Given the description of an element on the screen output the (x, y) to click on. 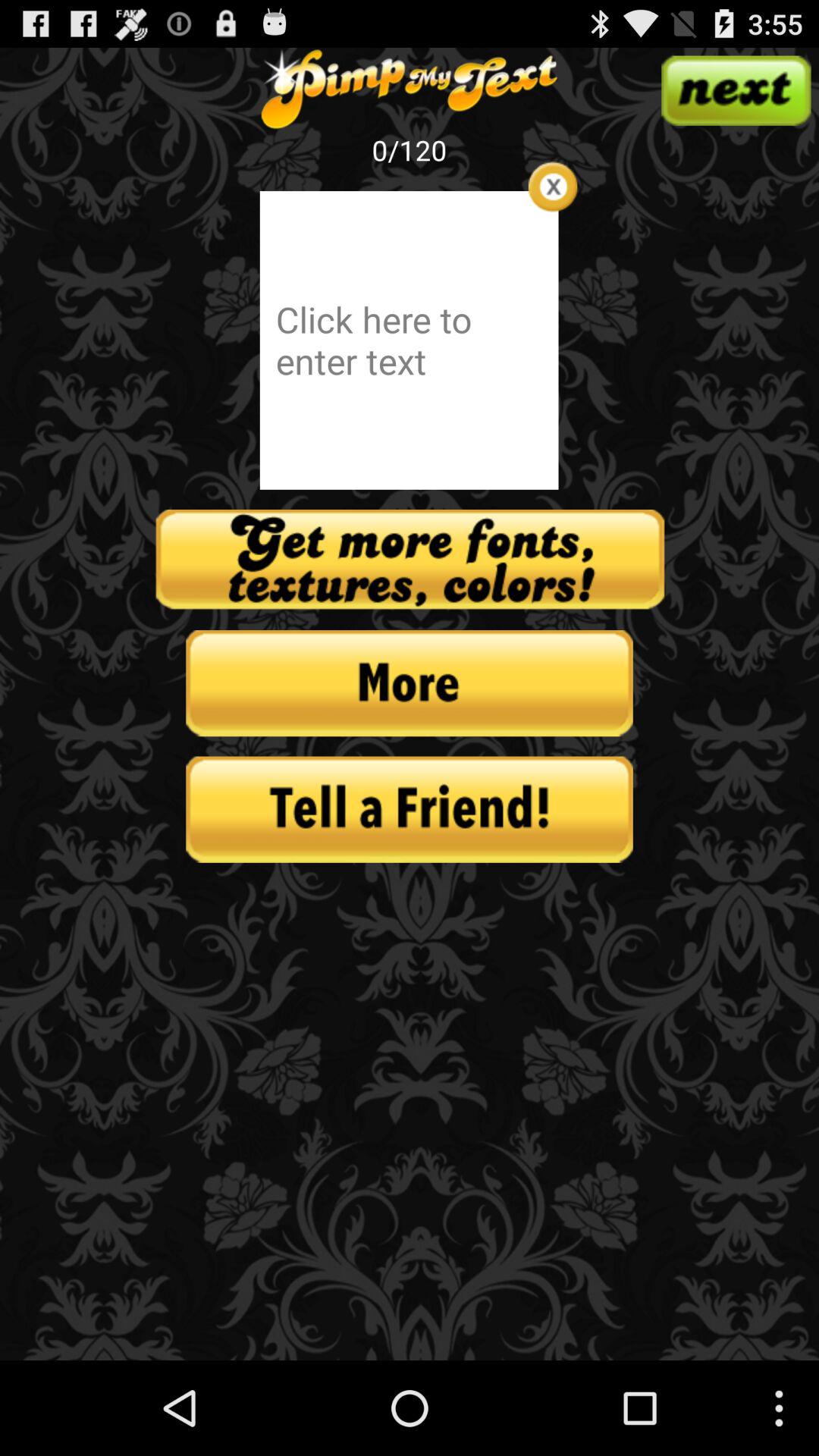
choose app next to 0/120 icon (552, 186)
